Given the description of an element on the screen output the (x, y) to click on. 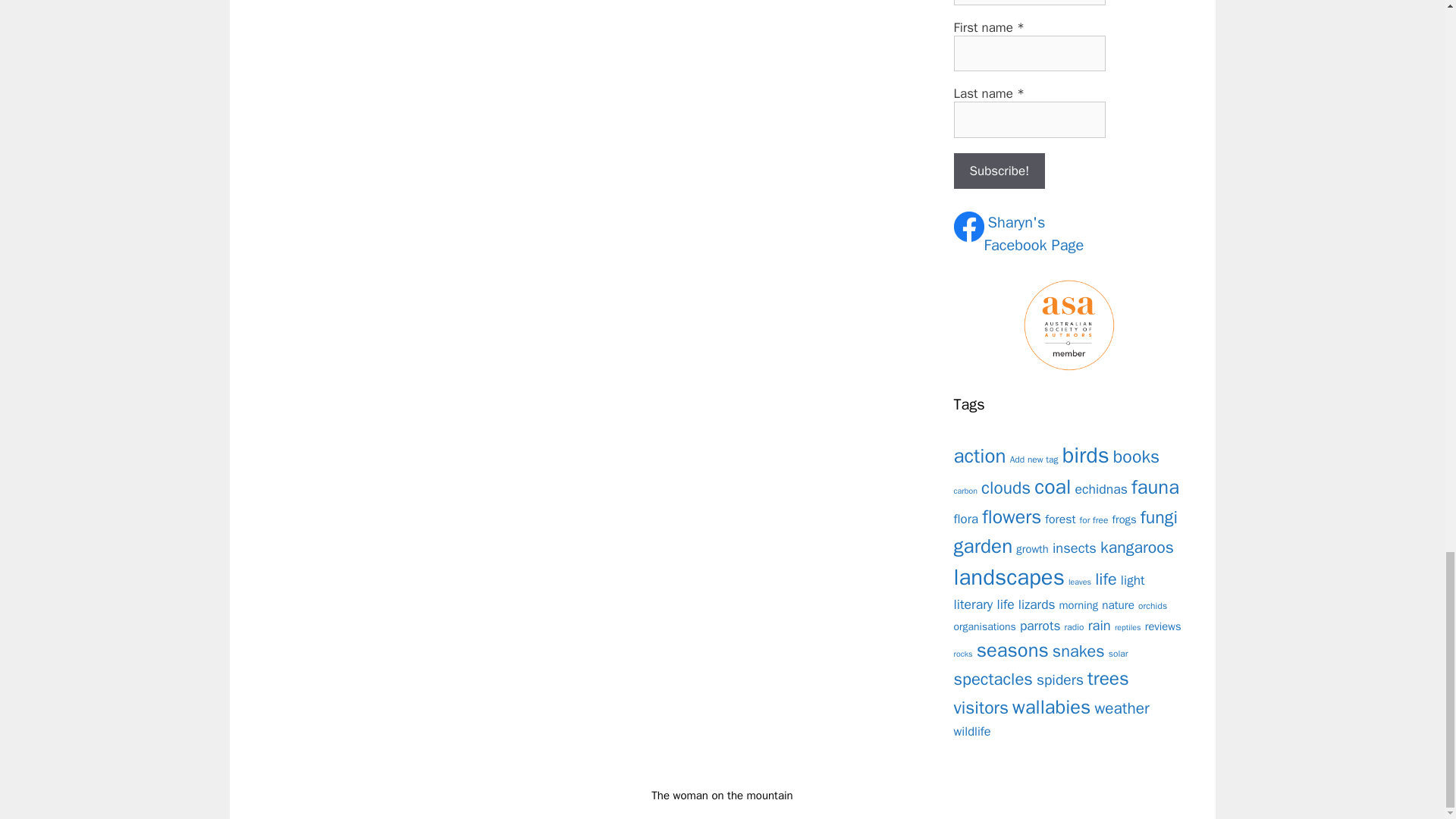
flowers (1034, 234)
Subscribe! (1011, 516)
books (999, 171)
forest (1135, 456)
echidnas (1060, 519)
carbon (1100, 488)
flora (965, 491)
First name (965, 519)
Subscribe! (1029, 54)
